Given the description of an element on the screen output the (x, y) to click on. 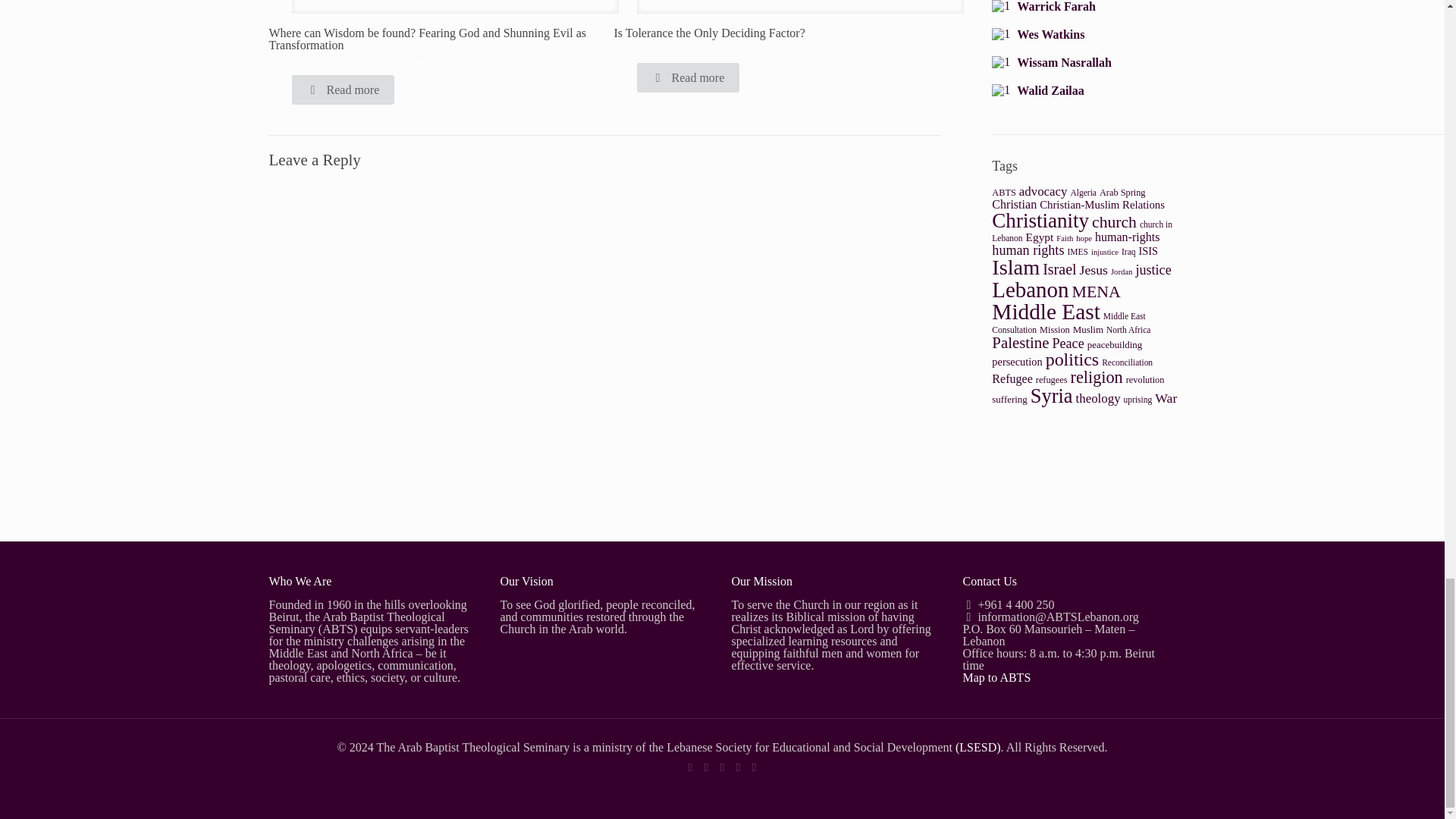
RSS (754, 767)
Instagram (738, 767)
YouTube (722, 767)
Facebook (689, 767)
